Given the description of an element on the screen output the (x, y) to click on. 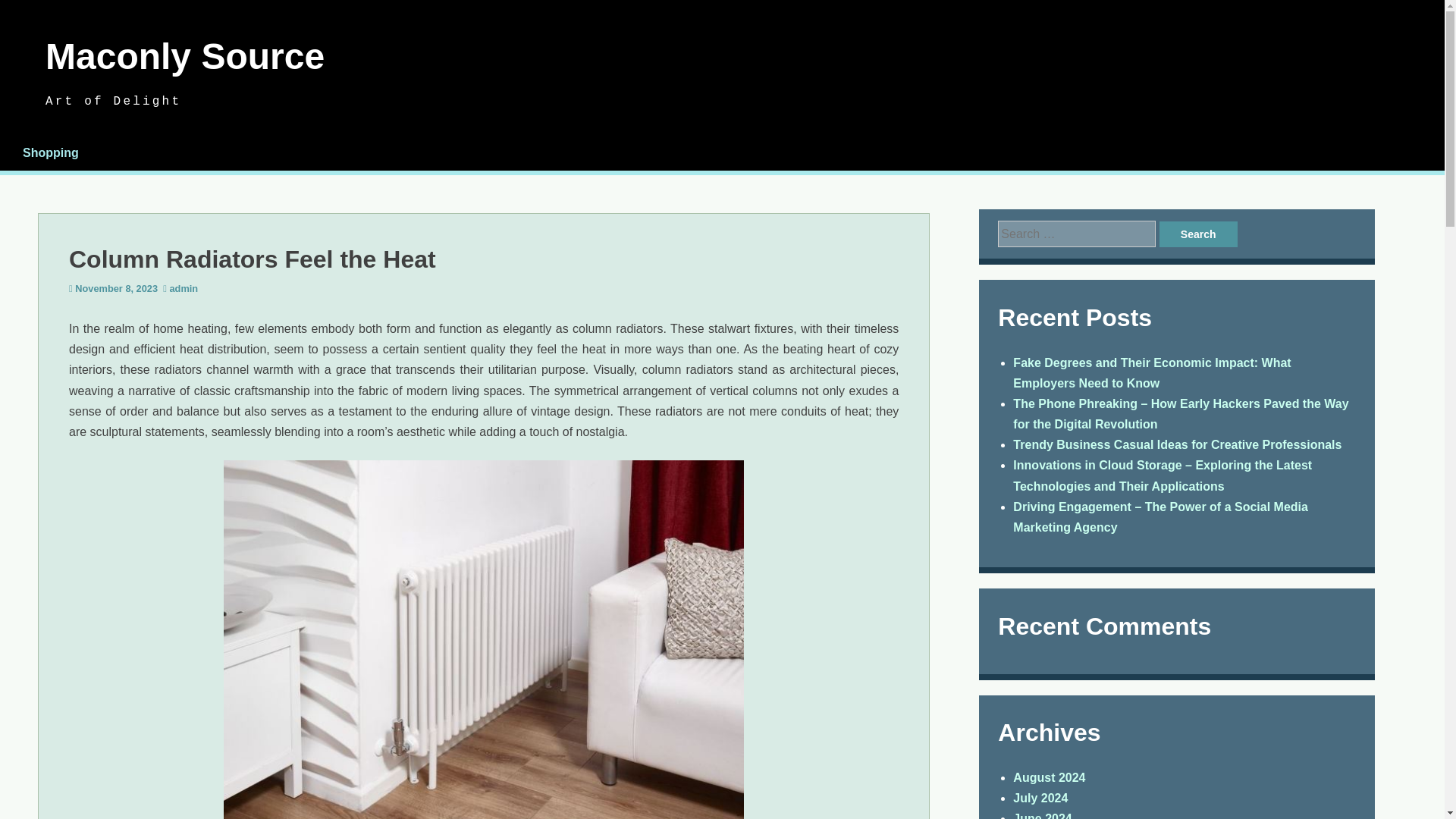
June 2024 (1042, 815)
Shopping (50, 152)
July 2024 (1040, 797)
Search (1197, 234)
November 8, 2023 (116, 288)
August 2024 (1048, 777)
Search (1197, 234)
Maconly Source (184, 56)
admin (183, 288)
Trendy Business Casual Ideas for Creative Professionals (1176, 444)
